Given the description of an element on the screen output the (x, y) to click on. 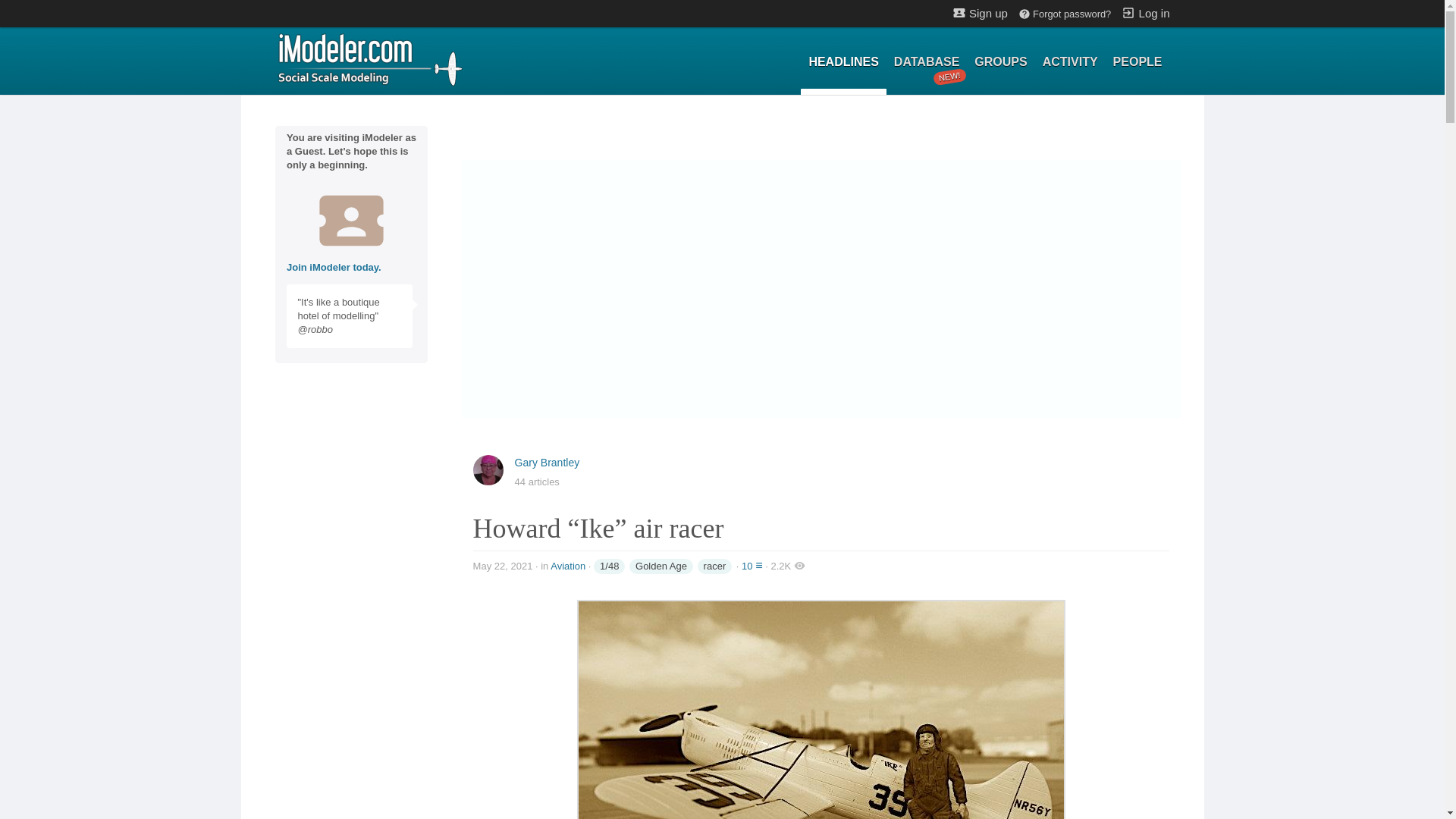
Aviation (567, 565)
Golden Age (660, 566)
racer (714, 566)
Forgot password? (1063, 13)
Log in (927, 61)
ACTIVITY (1145, 12)
Gary Brantley (1070, 61)
Sign up (547, 462)
Home (979, 12)
Join iModeler today. (369, 58)
HEADLINES (333, 266)
GROUPS (842, 61)
PEOPLE (999, 61)
